Given the description of an element on the screen output the (x, y) to click on. 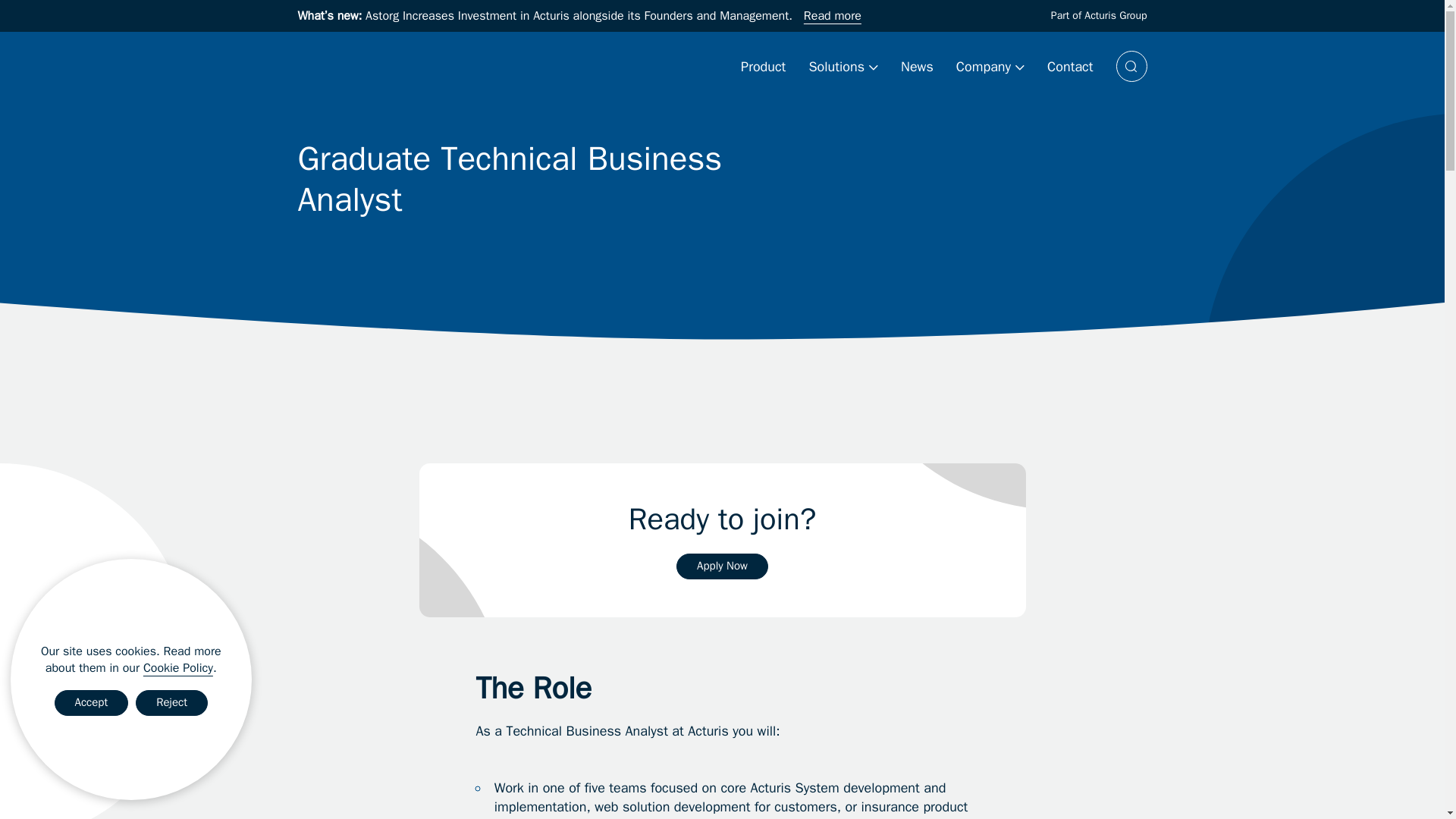
Read more (832, 15)
Contact (1069, 66)
Apply Now (722, 566)
Search (1131, 65)
Part of Acturis Group (1099, 15)
Solutions (842, 66)
News (917, 66)
Skip to content (14, 7)
Apply Now (722, 566)
Company (990, 66)
